Given the description of an element on the screen output the (x, y) to click on. 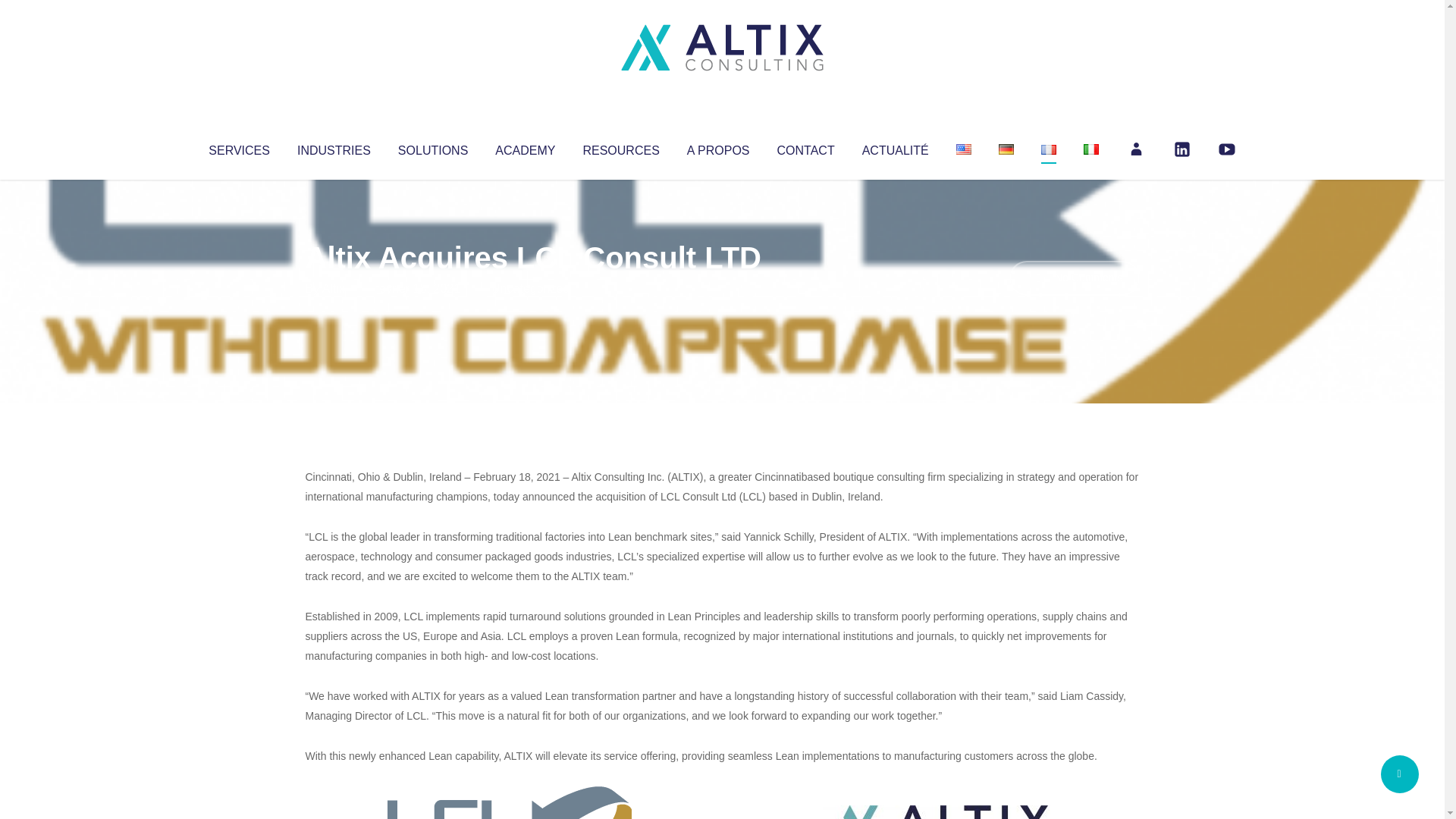
Altix (333, 287)
A PROPOS (718, 146)
ACADEMY (524, 146)
Articles par Altix (333, 287)
No Comments (1073, 278)
INDUSTRIES (334, 146)
SOLUTIONS (432, 146)
SERVICES (238, 146)
Uncategorized (530, 287)
RESOURCES (620, 146)
